Given the description of an element on the screen output the (x, y) to click on. 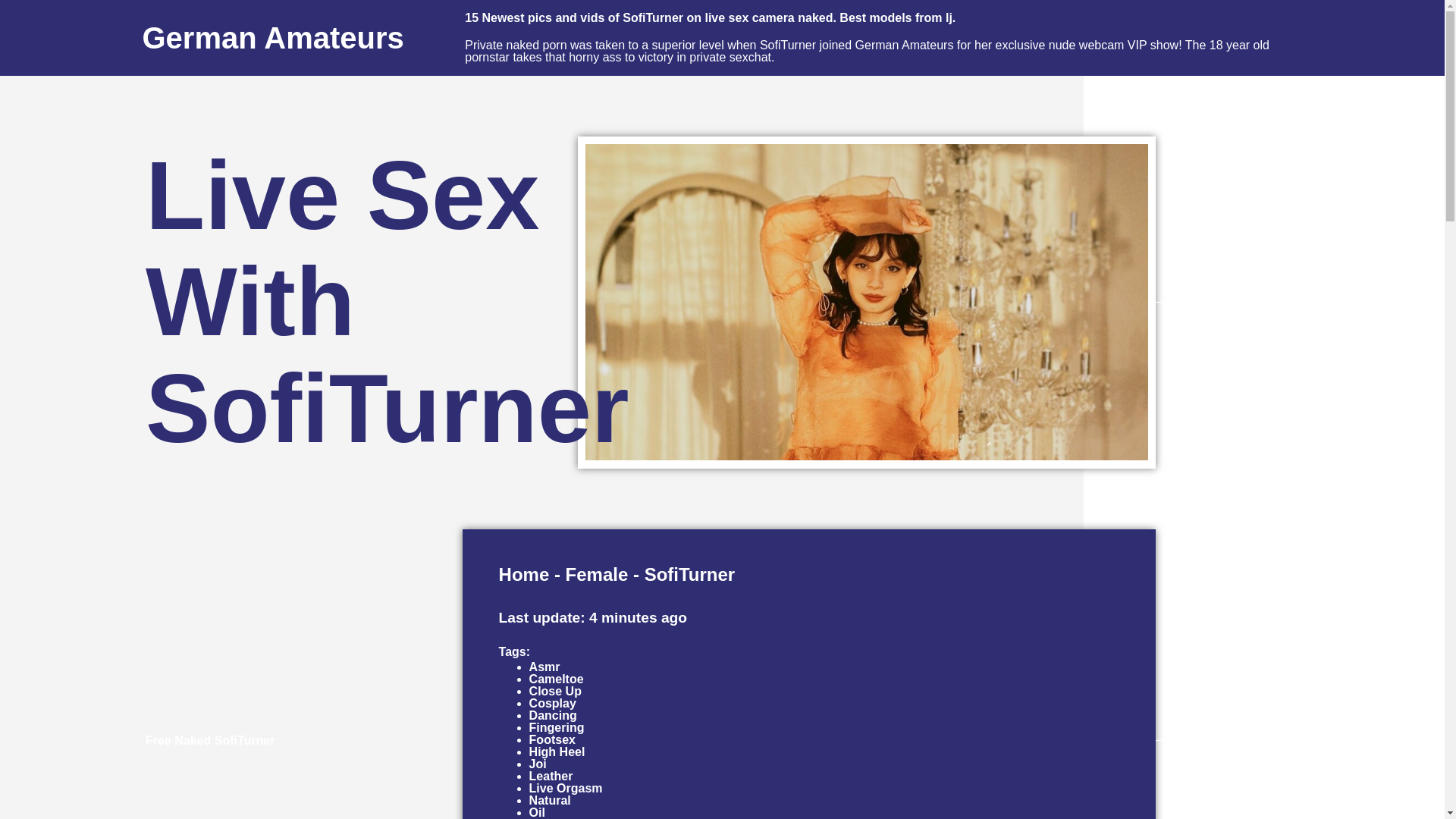
Free Naked SofiTurner (210, 739)
Joi (538, 763)
Home (524, 574)
Natural (549, 799)
Female (597, 574)
Dancing (552, 715)
Oil (536, 812)
Cameltoe (556, 678)
Fingering (557, 727)
Female (597, 574)
Dancing (552, 715)
Asmr (544, 666)
Footsex (552, 739)
Leather (551, 775)
Live Orgasm (565, 788)
